Given the description of an element on the screen output the (x, y) to click on. 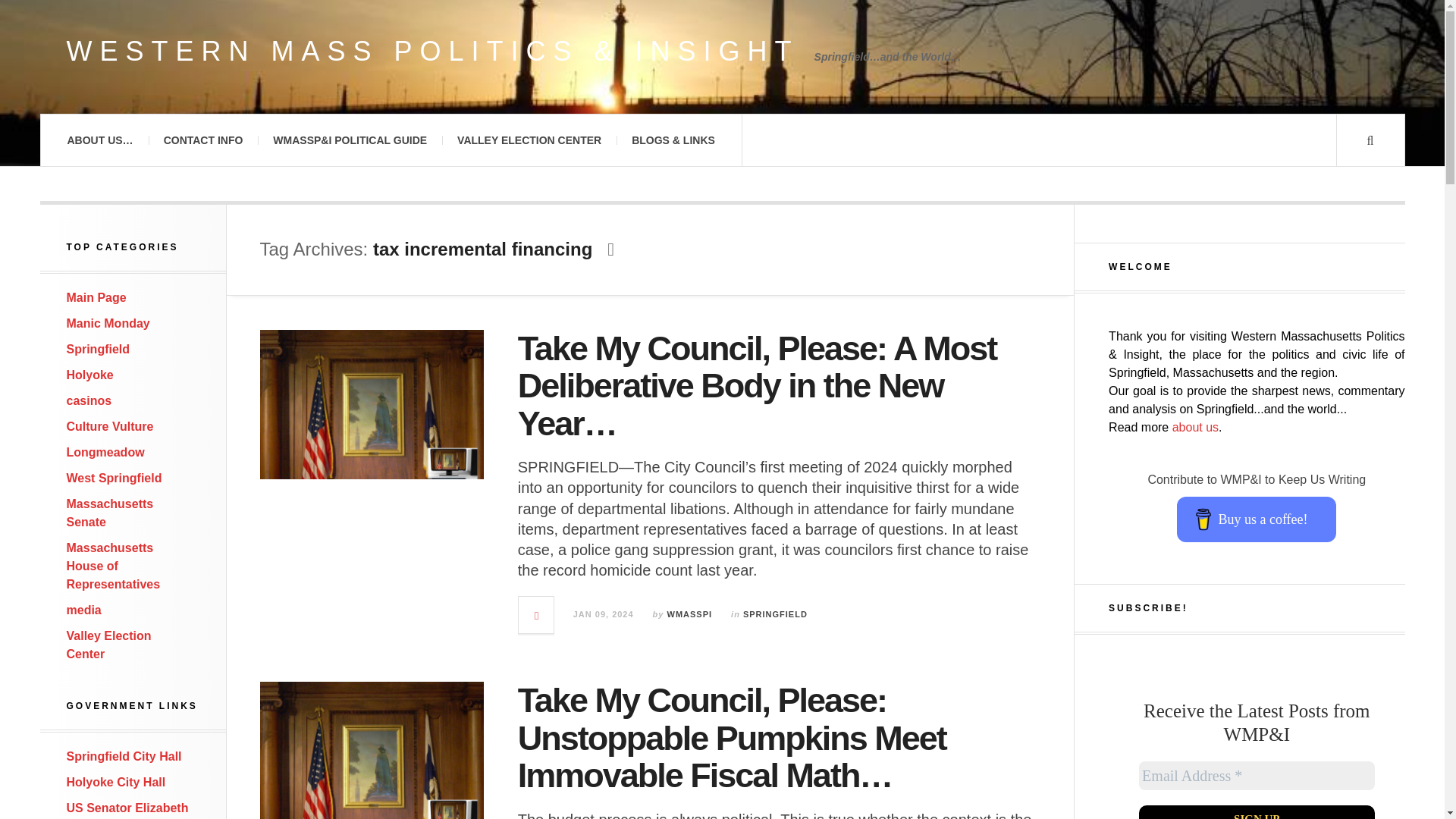
Holyoke (89, 374)
Valley Election Center (108, 644)
media (83, 609)
View all posts in Springfield (775, 614)
Sign up (1256, 812)
VALLEY ELECTION CENTER (528, 140)
Holyoke City Hall (115, 781)
Culture Vulture (110, 426)
West Springfield (113, 477)
Main Page (96, 297)
